Given the description of an element on the screen output the (x, y) to click on. 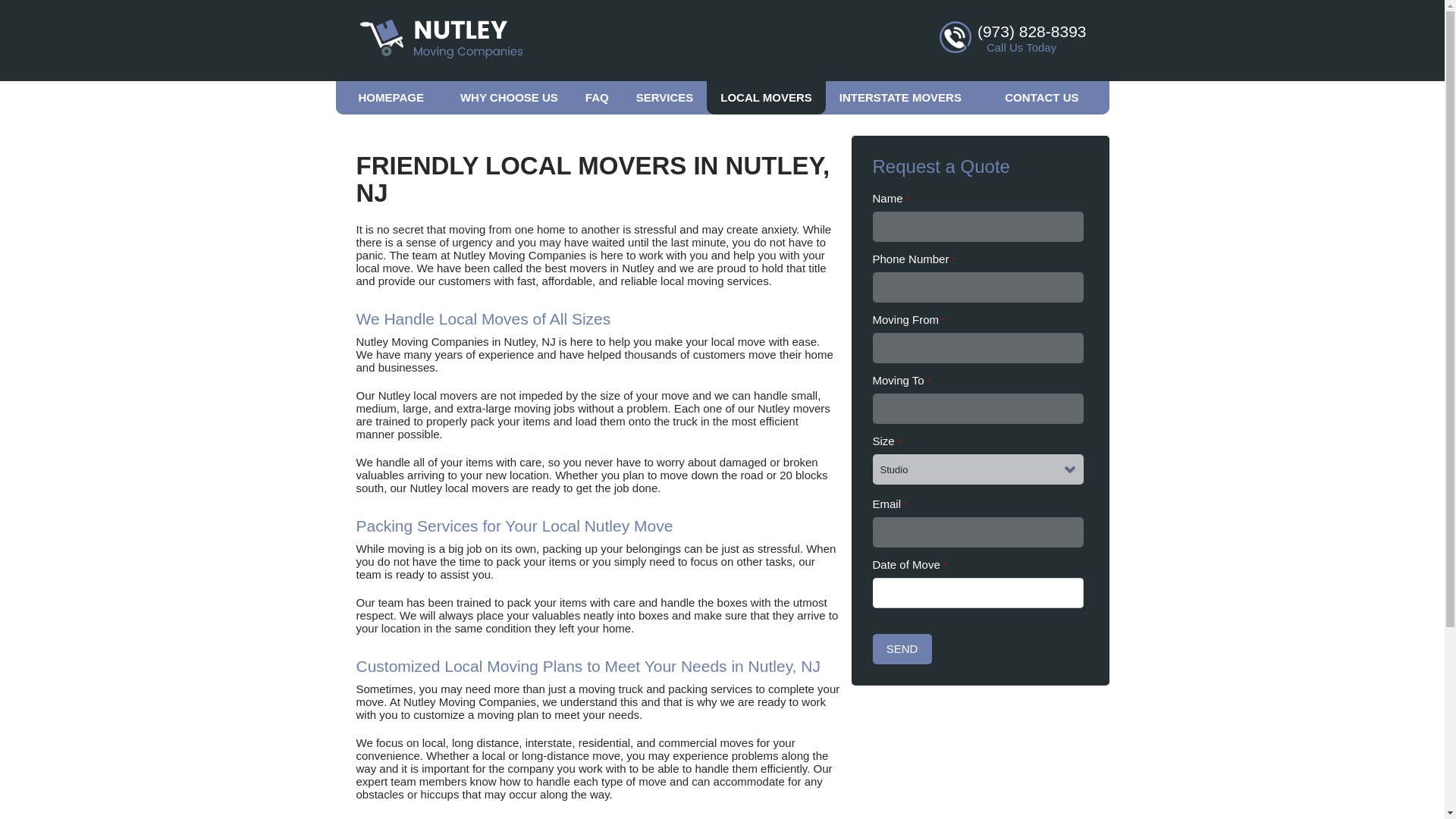
HOMEPAGE (389, 97)
FAQ (597, 97)
INTERSTATE MOVERS (900, 97)
SERVICES (665, 97)
LOCAL MOVERS (765, 97)
CONTACT US (1041, 97)
WHY CHOOSE US (509, 97)
SEND (901, 648)
